Given the description of an element on the screen output the (x, y) to click on. 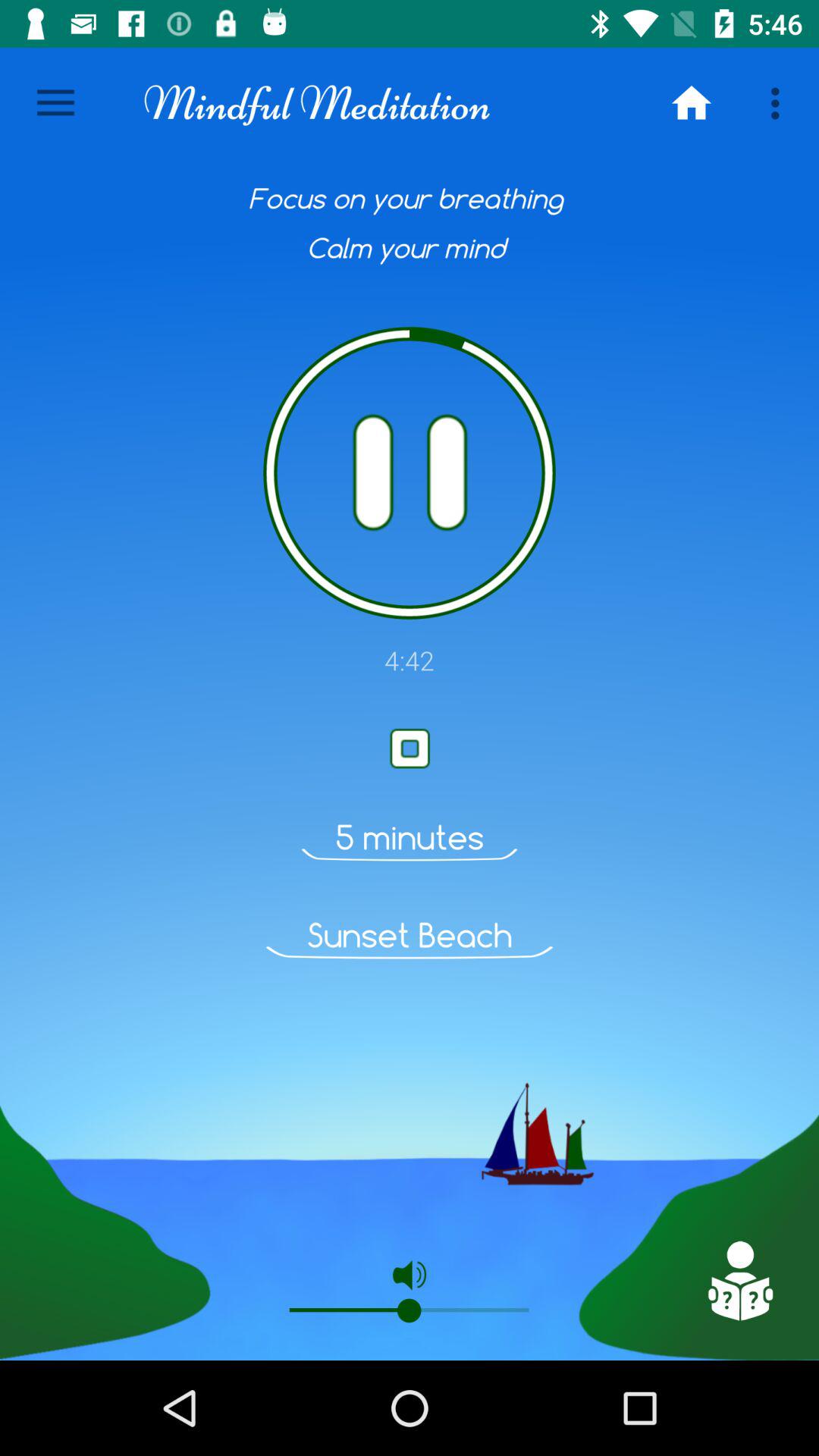
click on the doll (739, 1280)
